Given the description of an element on the screen output the (x, y) to click on. 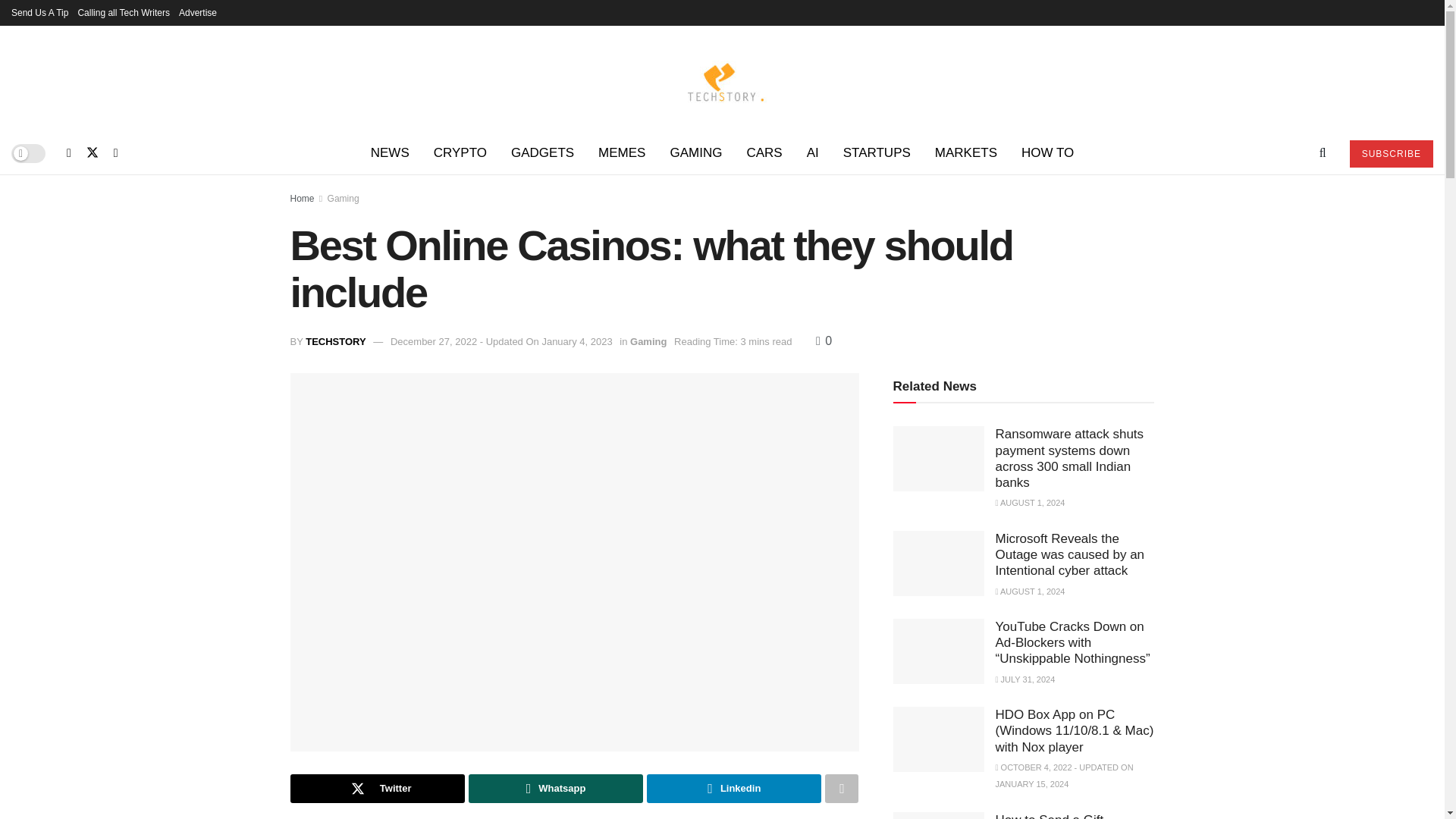
Home (301, 198)
SUBSCRIBE (1390, 153)
GAMING (695, 152)
Gaming (343, 198)
NEWS (390, 152)
Calling all Tech Writers (123, 12)
STARTUPS (877, 152)
CRYPTO (460, 152)
HOW TO (1047, 152)
Advertise (197, 12)
MEMES (622, 152)
TECHSTORY (335, 341)
MARKETS (966, 152)
GADGETS (542, 152)
Send Us A Tip (39, 12)
